Given the description of an element on the screen output the (x, y) to click on. 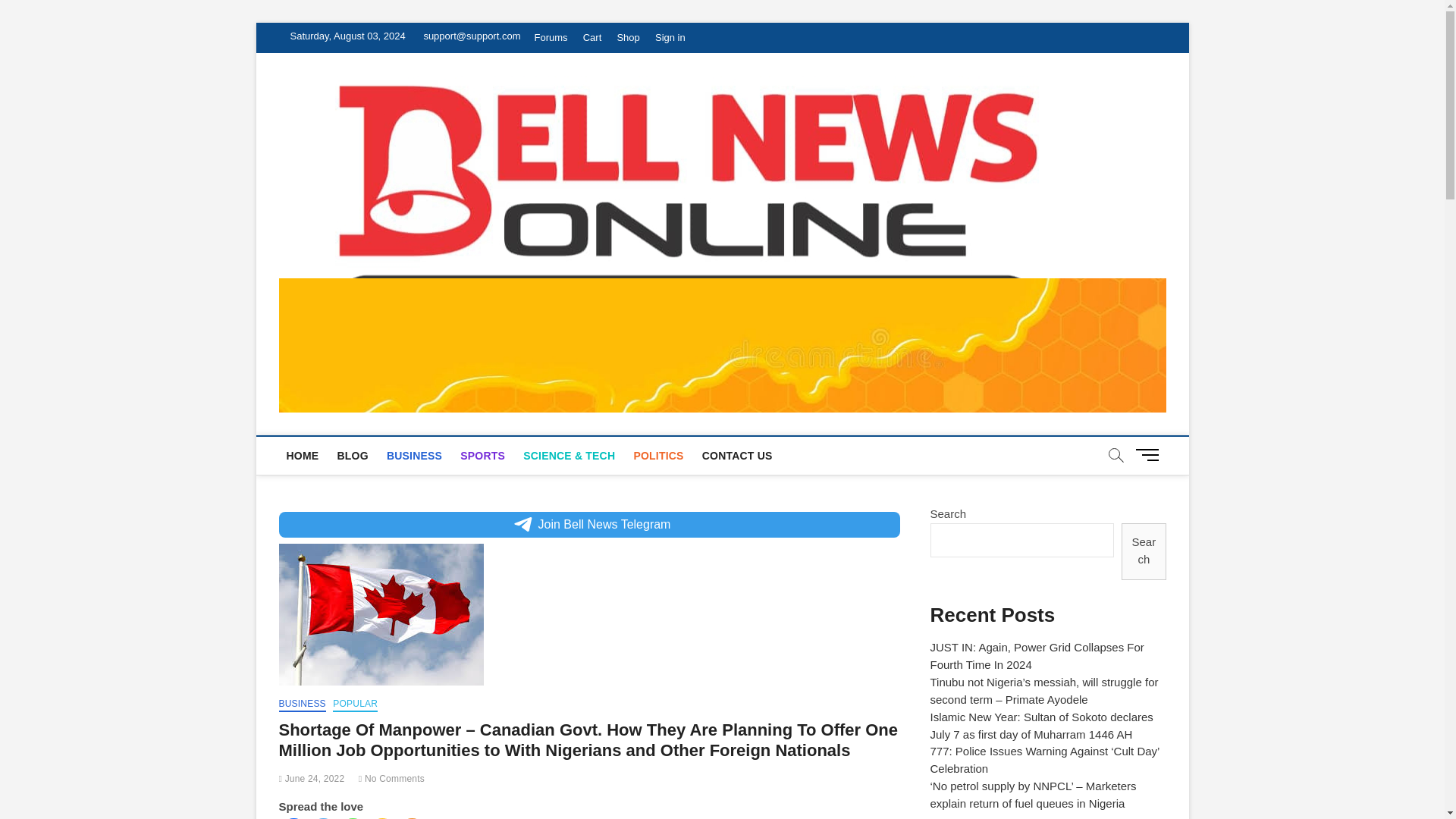
Shop (627, 37)
CONTACT US (737, 455)
Menu Button (1150, 454)
BLOG (352, 455)
POLITICS (658, 455)
SPORTS (482, 455)
Mail Us (468, 35)
BUSINESS (413, 455)
Bell News (1137, 119)
Cart (592, 37)
Sign in (670, 37)
HOME (302, 455)
Forums (550, 37)
Bell News (1137, 119)
